Given the description of an element on the screen output the (x, y) to click on. 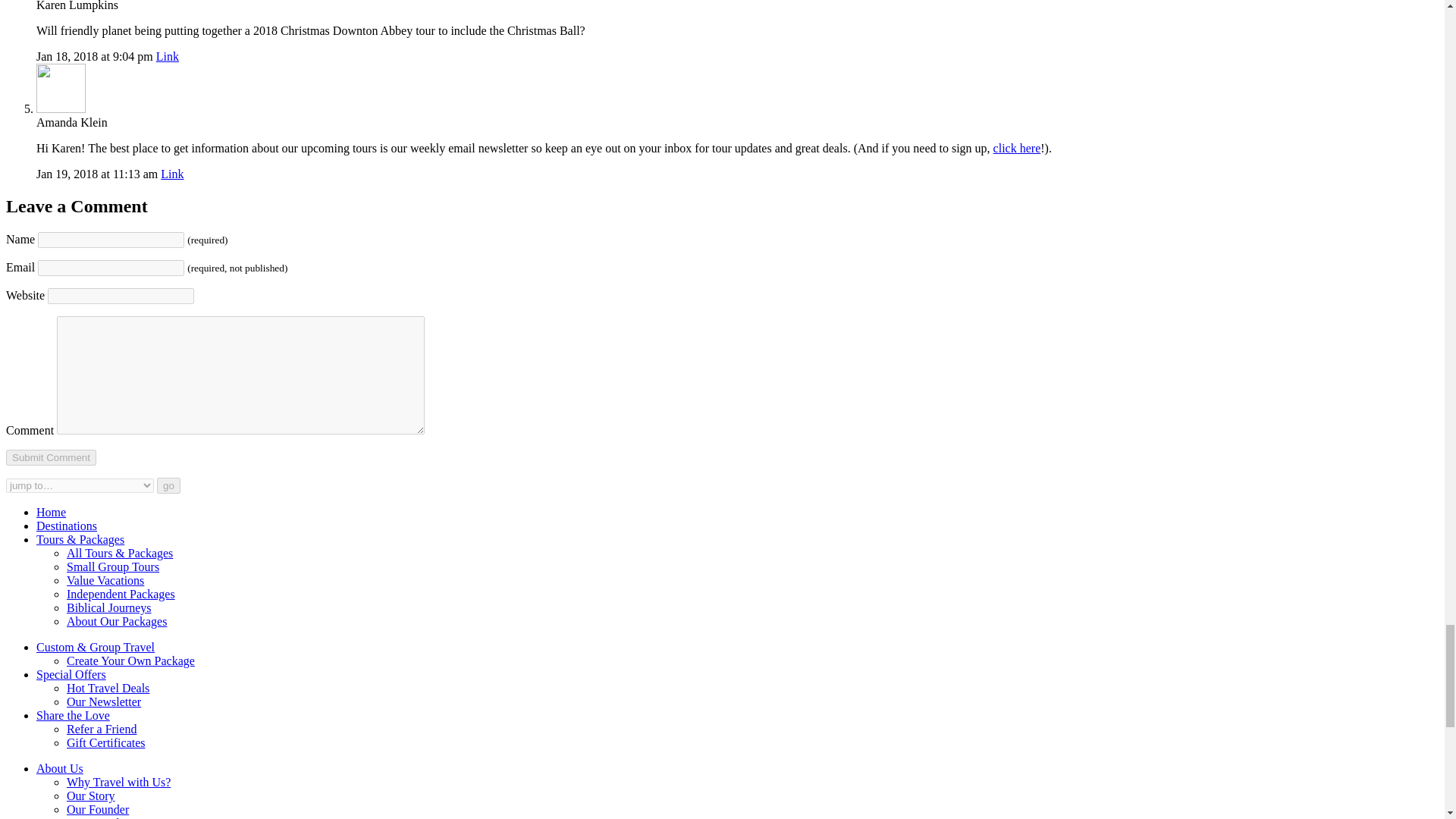
go (168, 485)
Submit Comment (50, 457)
